Given the description of an element on the screen output the (x, y) to click on. 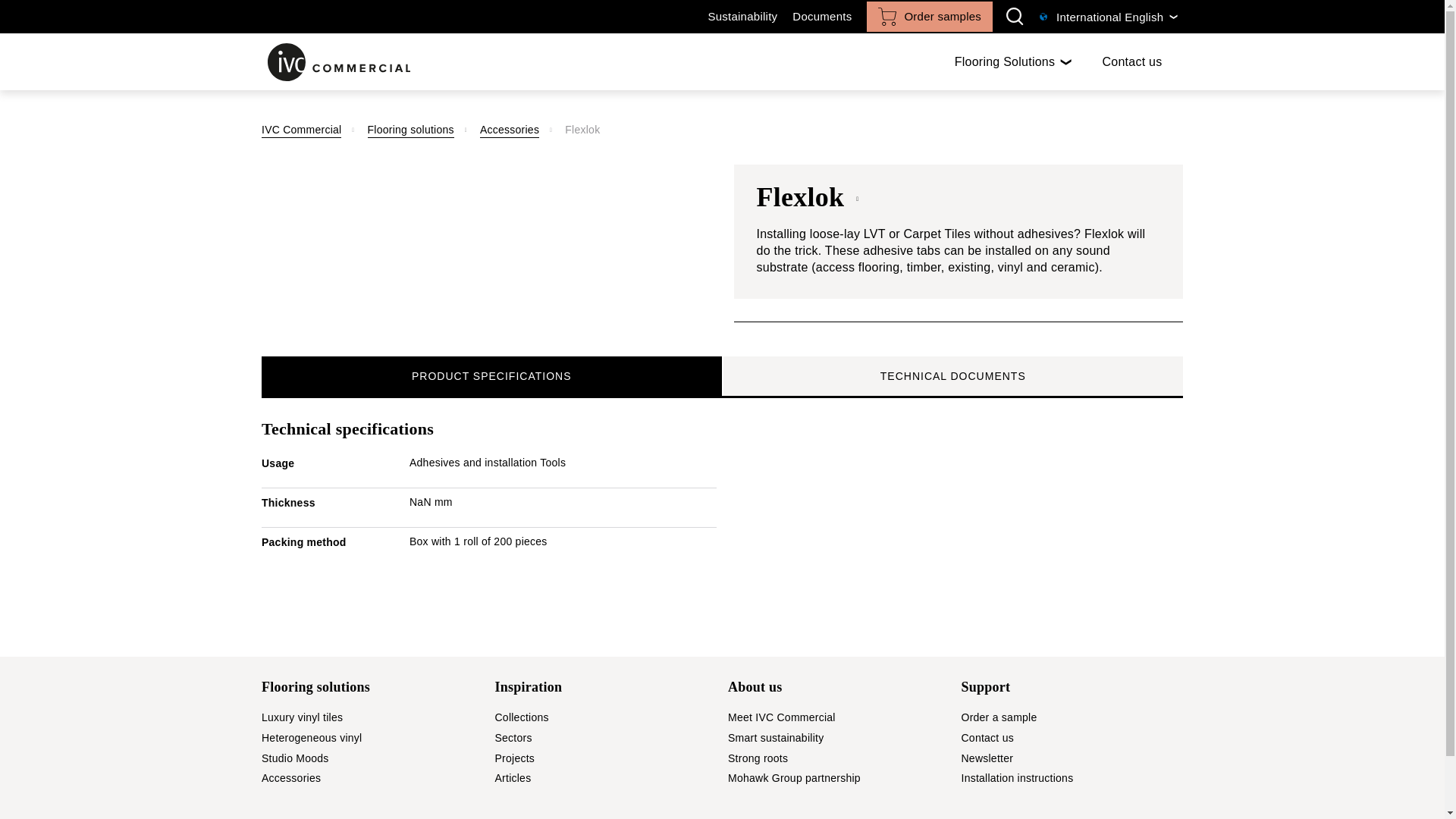
Flooring Solutions (722, 377)
Sustainability (1013, 61)
Order samples (742, 16)
Documents (929, 16)
